Given the description of an element on the screen output the (x, y) to click on. 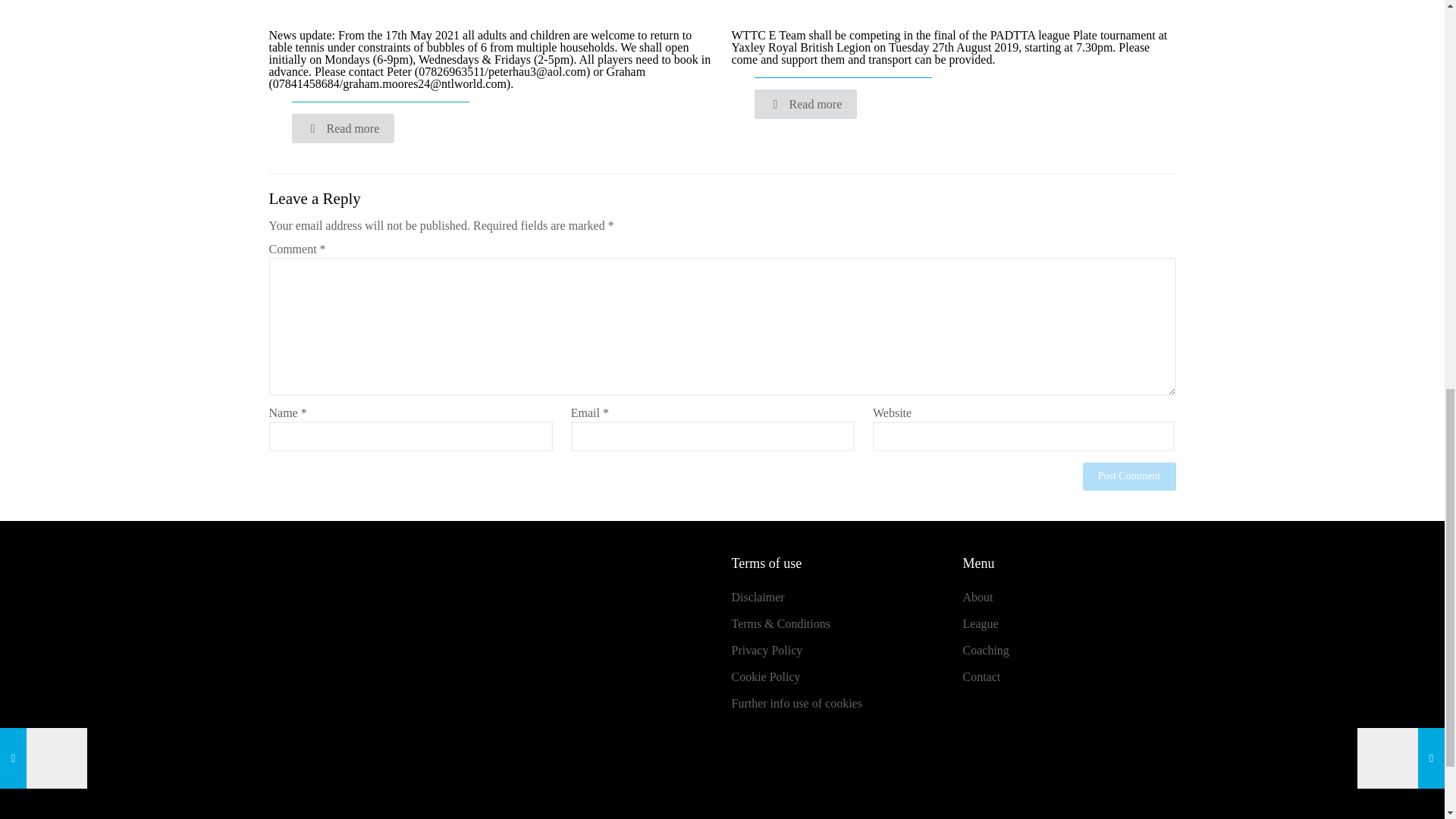
Coaching (985, 649)
League (980, 623)
Privacy Policy (766, 649)
Further info use of cookies (795, 703)
Contact (981, 676)
Disclaimer (757, 596)
Post Comment (1129, 476)
About (977, 596)
Cookie Policy (764, 676)
Read more (805, 103)
Read more (342, 128)
Post Comment (1129, 476)
